Given the description of an element on the screen output the (x, y) to click on. 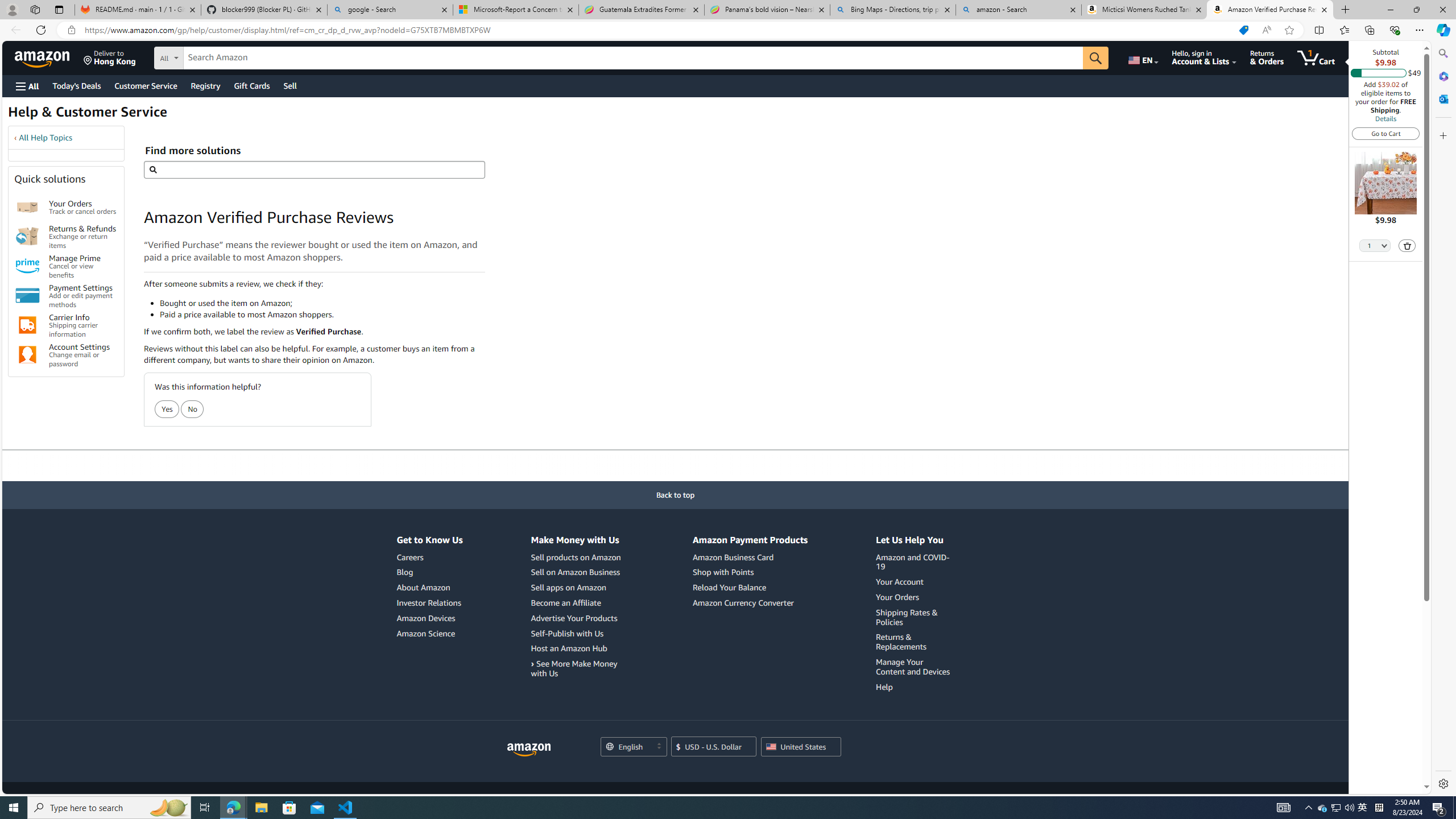
Amazon Science (425, 633)
Amazon Currency Converter (742, 602)
